Given the description of an element on the screen output the (x, y) to click on. 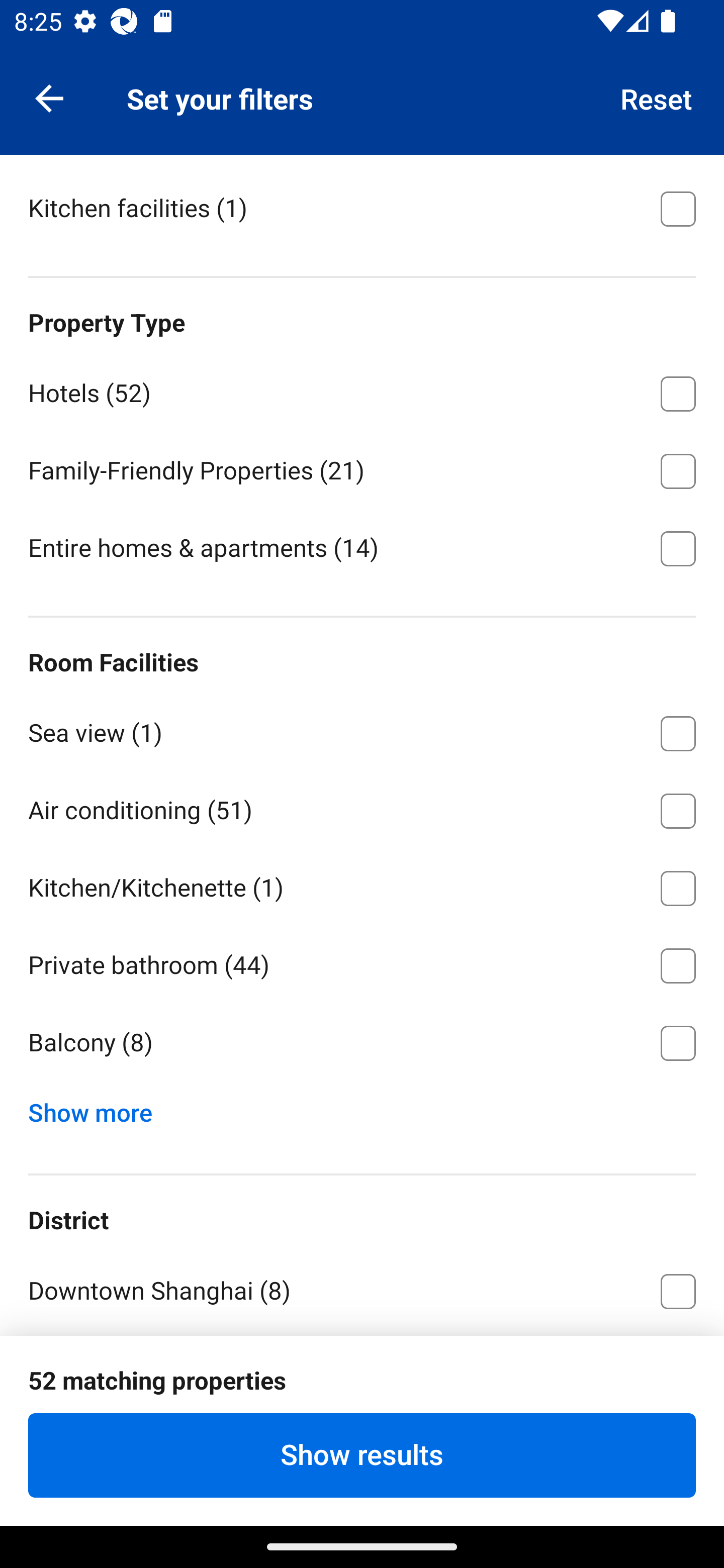
Navigate up (49, 97)
Reset (656, 97)
Kitchen facilities ⁦(1) (361, 206)
Hotels ⁦(52) (361, 390)
Family-Friendly Properties ⁦(21) (361, 467)
Entire homes & apartments ⁦(14) (361, 547)
Sea view ⁦(1) (361, 729)
Air conditioning ⁦(51) (361, 807)
Kitchen/Kitchenette ⁦(1) (361, 884)
Private bathroom ⁦(44) (361, 961)
Balcony ⁦(8) (361, 1042)
Show more (97, 1107)
Downtown Shanghai ⁦(8) (361, 1287)
Show results (361, 1454)
